Given the description of an element on the screen output the (x, y) to click on. 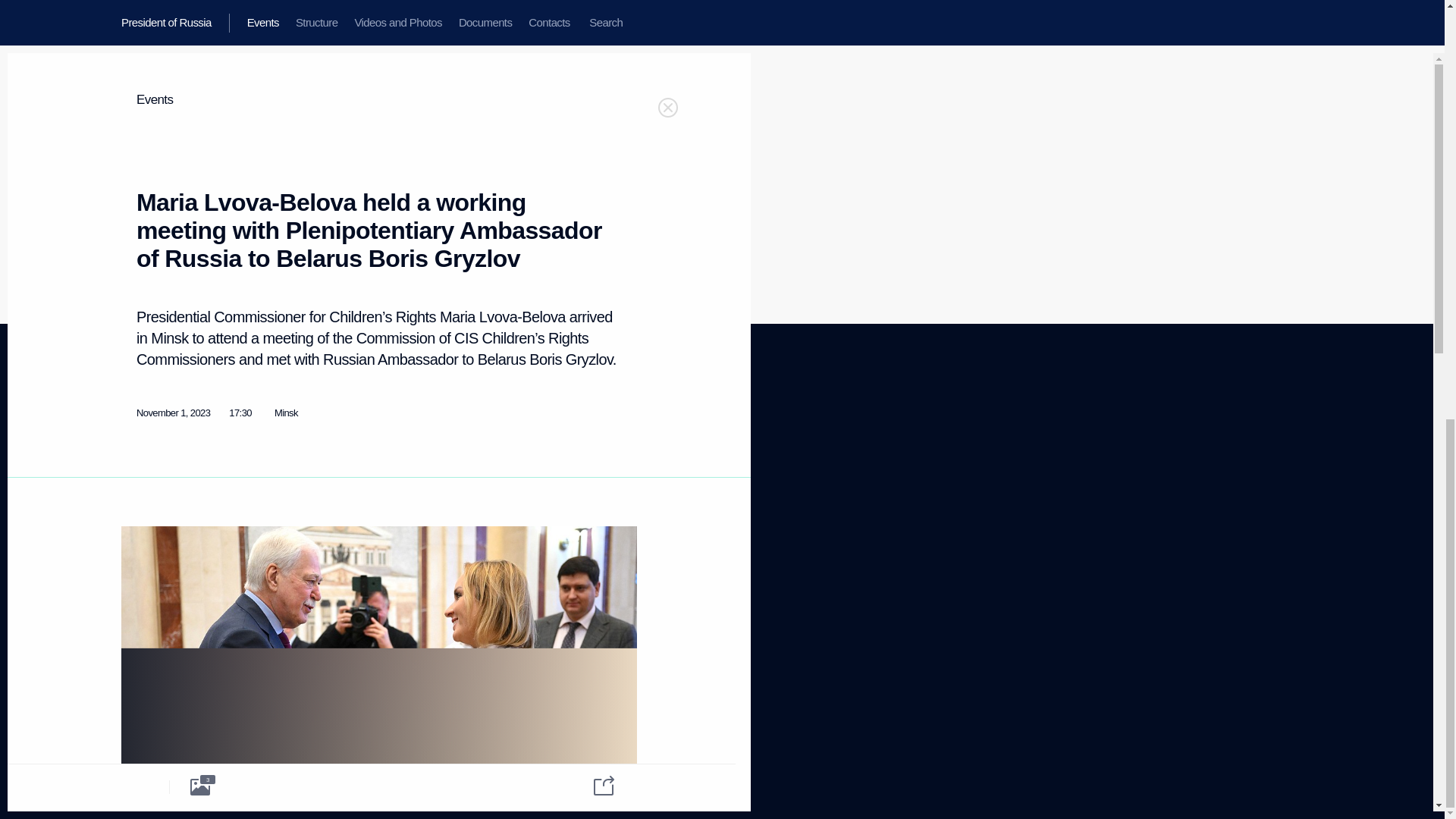
Send a Letter (284, 510)
Videos and Photos (158, 478)
Contact website team (573, 510)
About website (558, 440)
Version for People with Disabilities (165, 668)
Structure (138, 460)
Directory (138, 625)
Events (134, 440)
Documents (143, 497)
For the Media (148, 571)
Maria Lvova-Belova (258, 241)
Search (134, 535)
Telegram Channel (430, 455)
Creative Commons Attribution 4.0 International (582, 764)
The Constitution of Russia (309, 472)
